Given the description of an element on the screen output the (x, y) to click on. 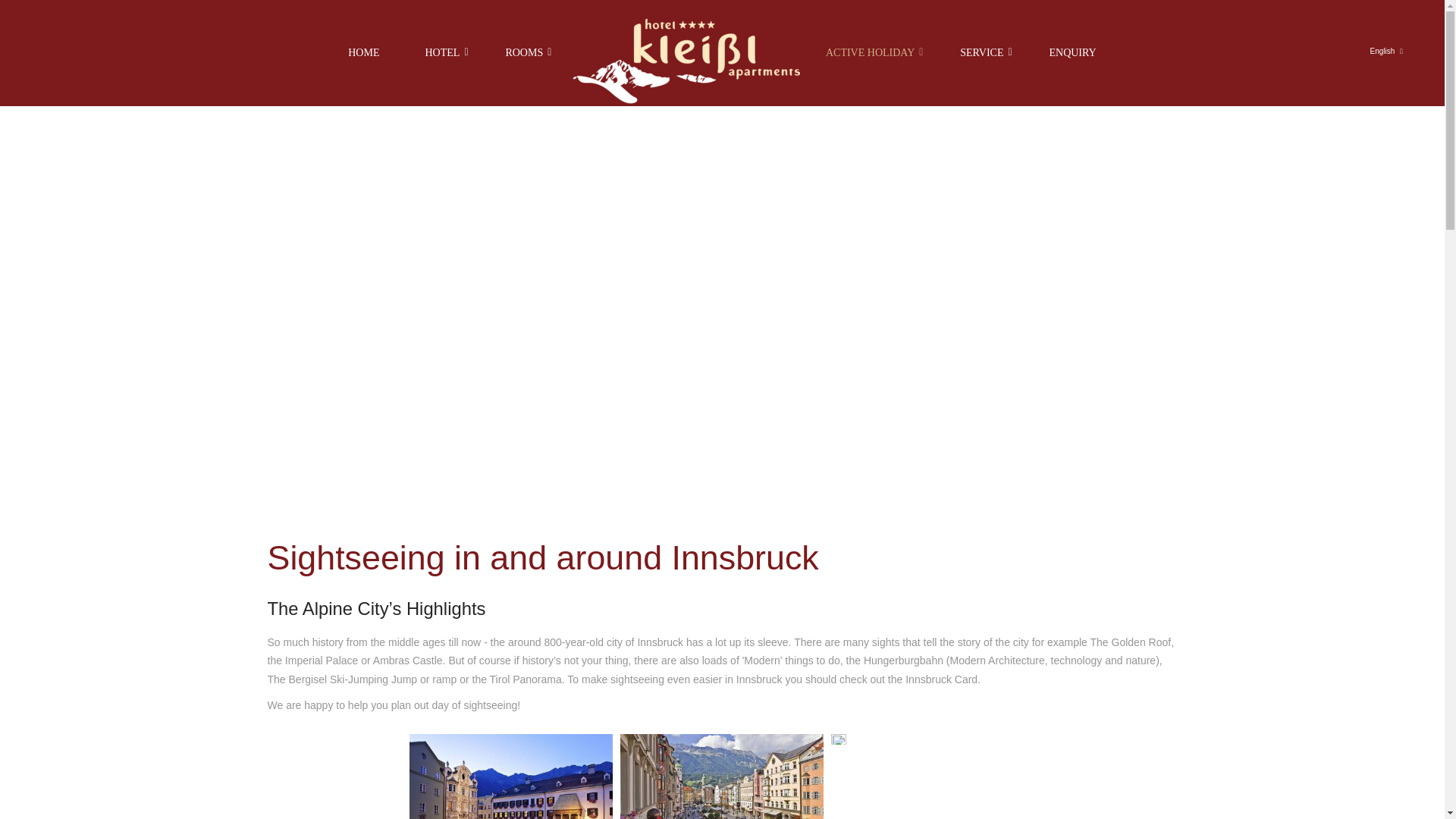
Active Holiday (870, 53)
ACTIVE HOLIDAY (870, 53)
Hotel Oberperfuss Home (684, 60)
